Given the description of an element on the screen output the (x, y) to click on. 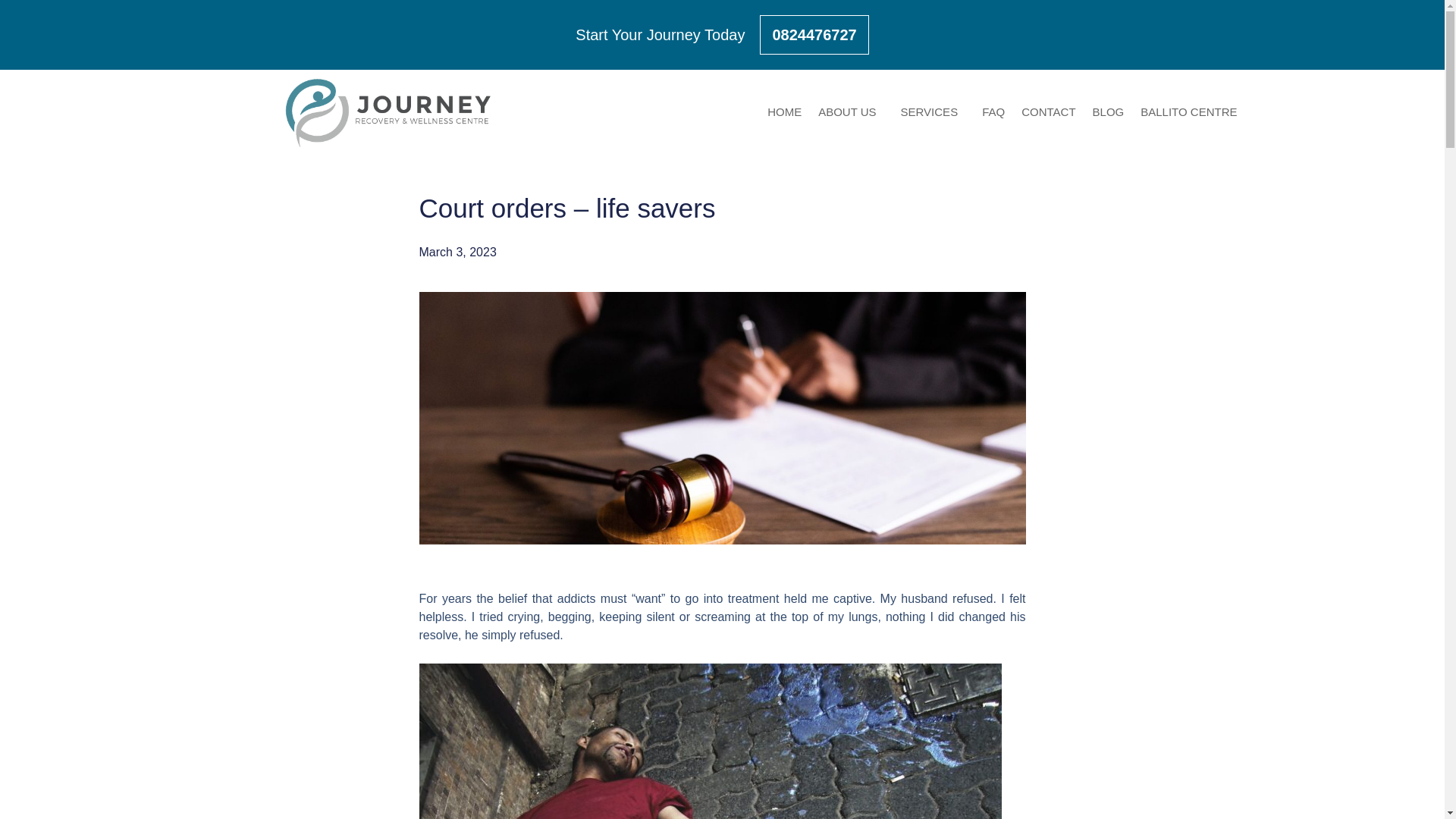
ABOUT US (850, 112)
CONTACT (1048, 112)
HOME (783, 112)
BALLITO CENTRE (1188, 112)
SERVICES (933, 112)
BLOG (1108, 112)
0824476727 (813, 34)
FAQ (993, 112)
